Given the description of an element on the screen output the (x, y) to click on. 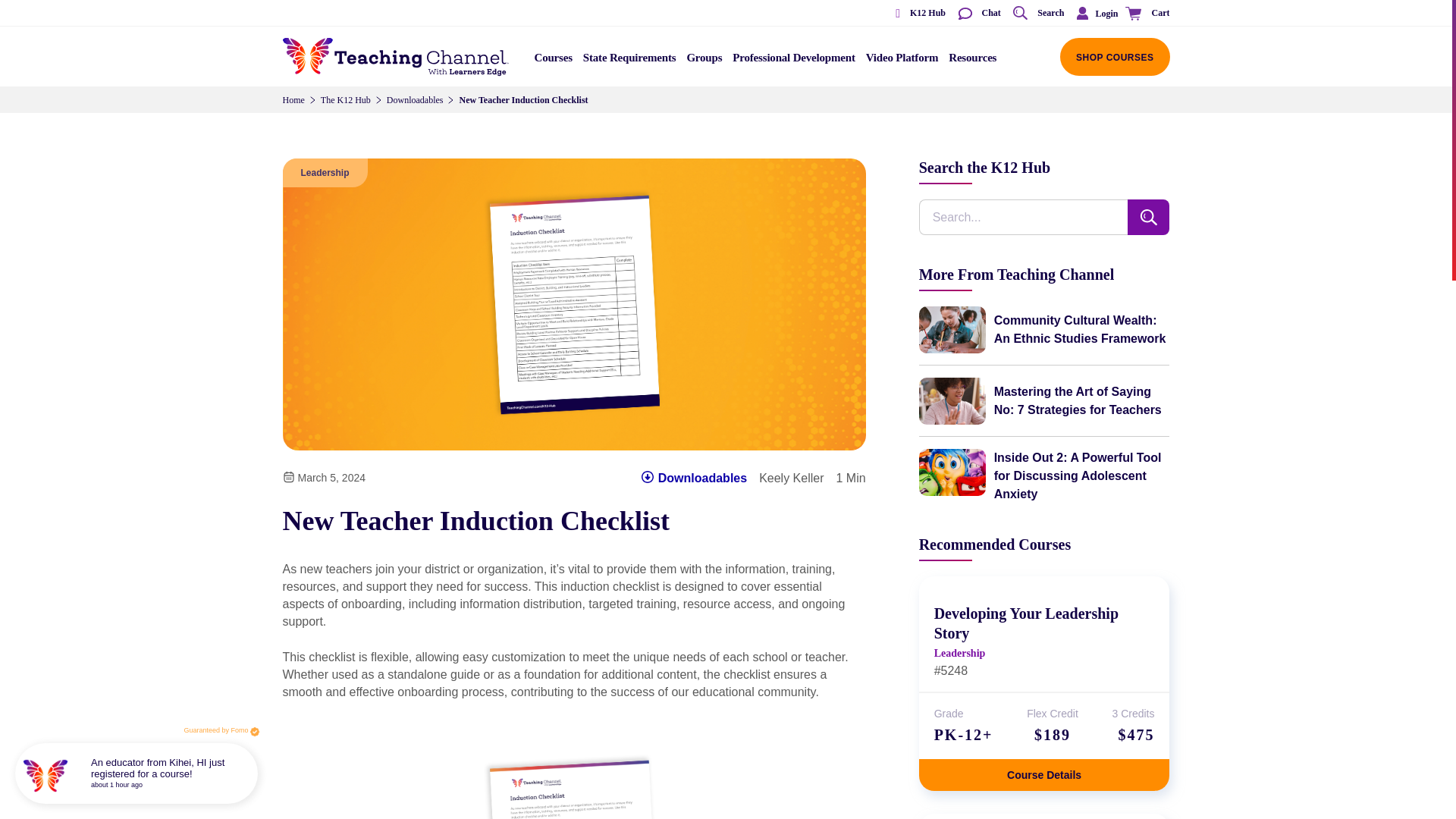
Courses (553, 62)
Login (1093, 12)
Cart (1145, 13)
Search (1037, 13)
K12 Hub (914, 13)
Chat (978, 13)
State Requirements (629, 62)
